Given the description of an element on the screen output the (x, y) to click on. 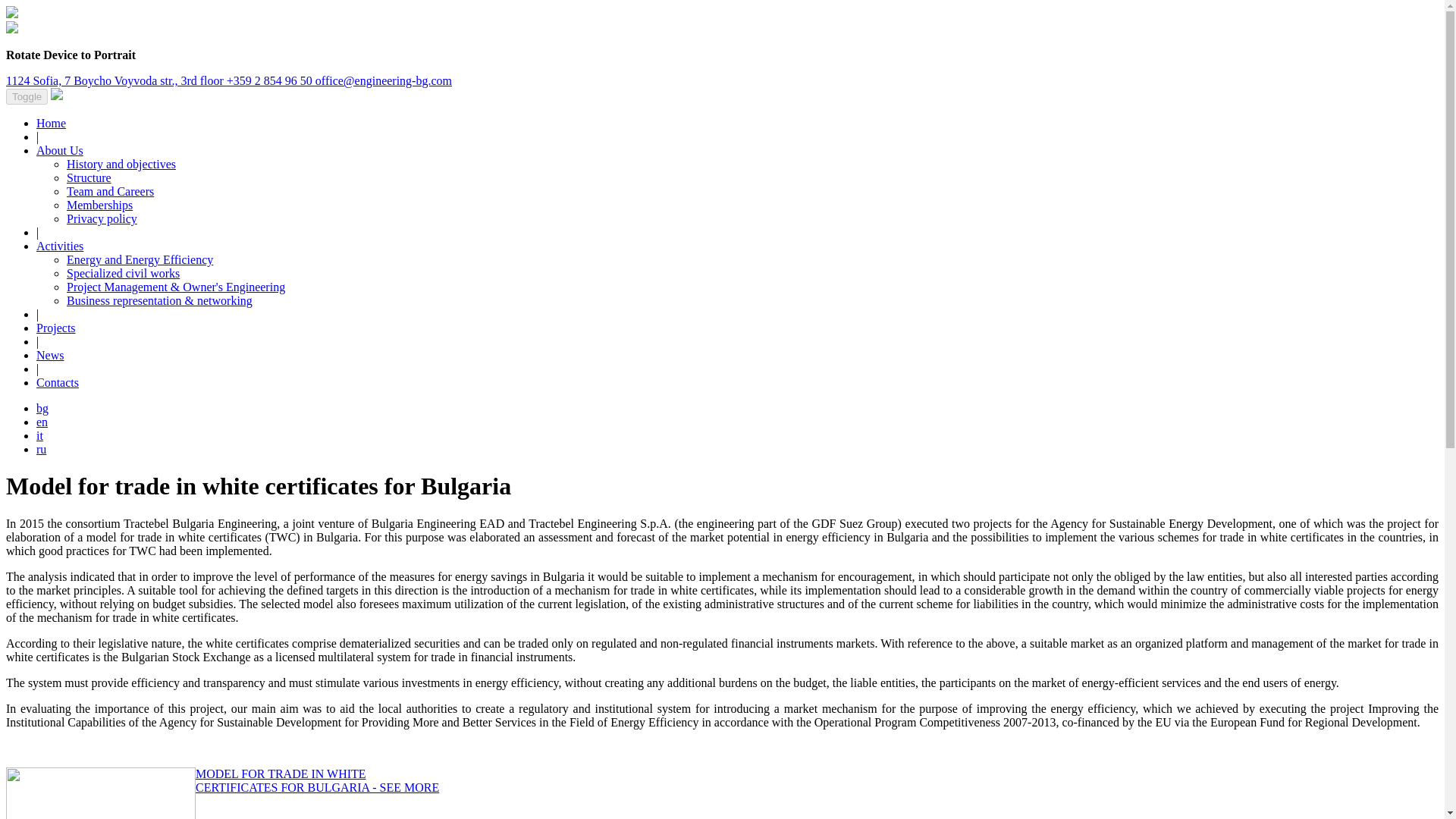
Projects (55, 327)
Energy and Energy Efficiency (139, 259)
Specialized civil works (122, 273)
History and objectives (121, 164)
Privacy policy (101, 218)
Contacts (57, 382)
1124 Sofia, 7 Boycho Voyvoda str., 3rd floor (116, 80)
bg (42, 408)
Structure (89, 177)
